Given the description of an element on the screen output the (x, y) to click on. 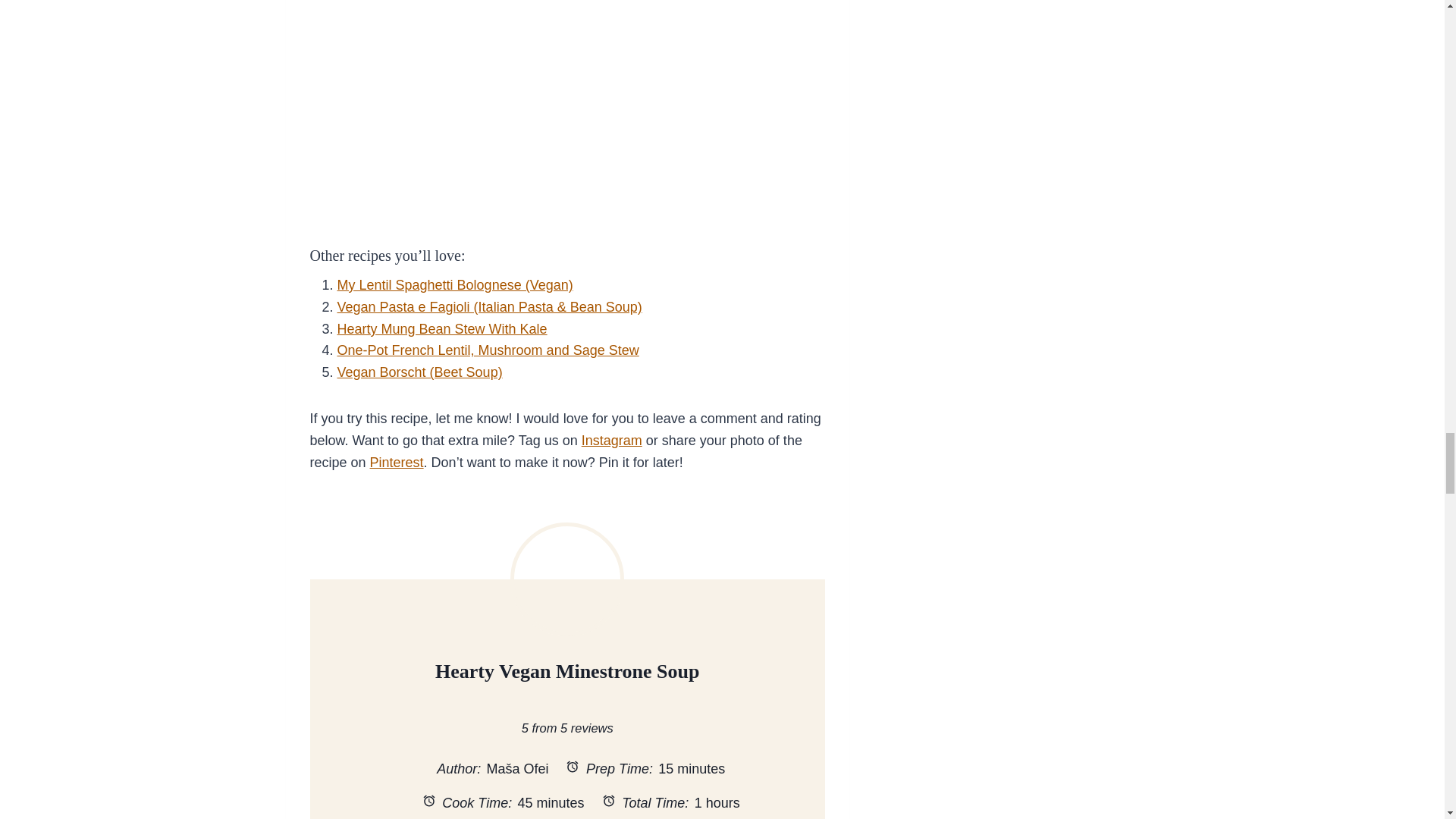
Hearty Mung Bean Stew With Kale (441, 328)
One-Pot French Lentil, Mushroom and Sage Stew (487, 350)
Instagram (611, 440)
